Given the description of an element on the screen output the (x, y) to click on. 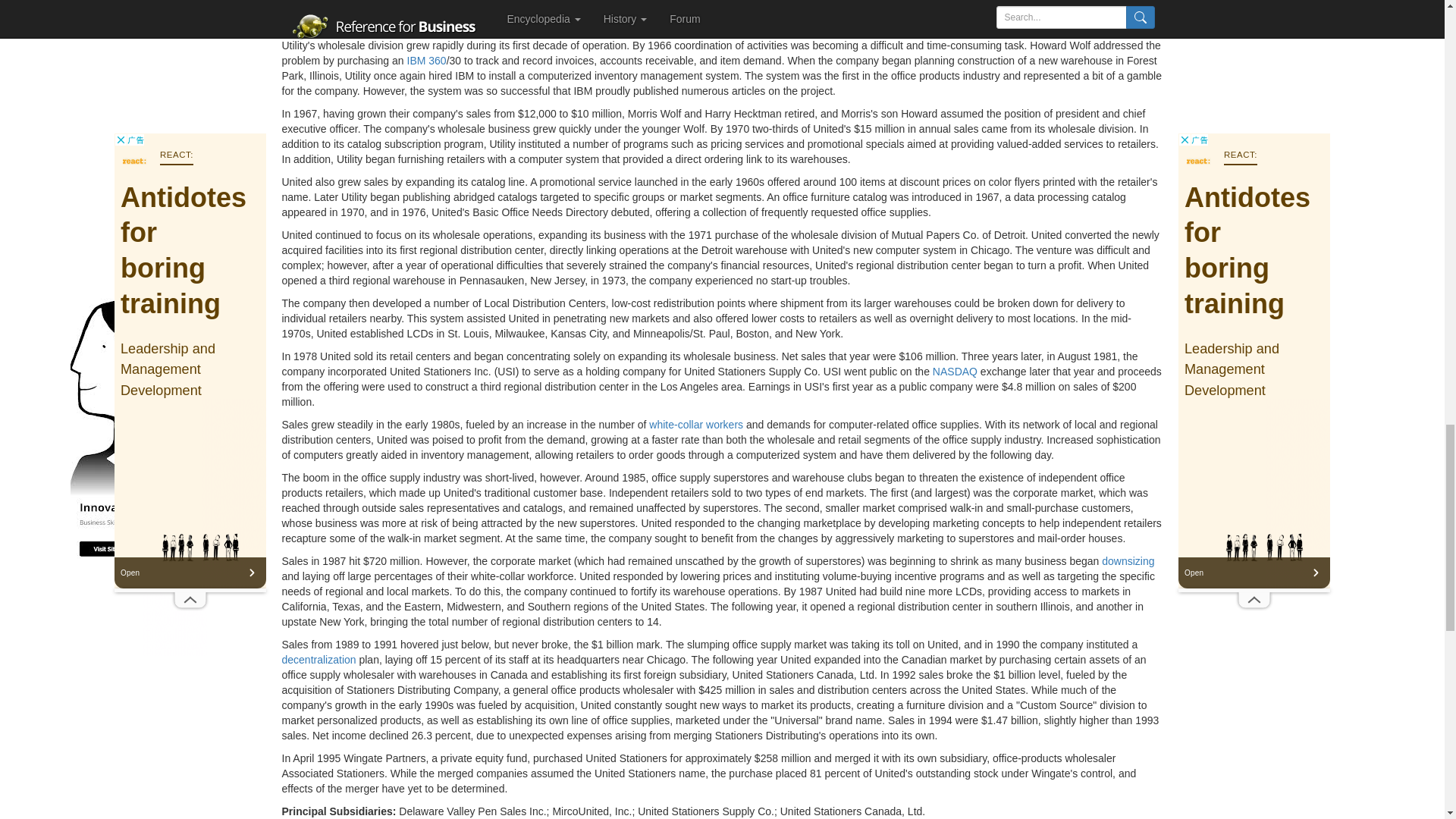
NASDAQ (954, 371)
View 'white-collar workers' definition from Wikipedia (695, 424)
decentralization (319, 659)
IBM 360 (425, 60)
View 'nasdaq' definition from Wikipedia (954, 371)
View 'ibm 360' definition from Wikipedia (425, 60)
white-collar workers (695, 424)
View 'decentralization' definition from Wikipedia (319, 659)
View 'downsizing' definition from Wikipedia (1128, 561)
downsizing (1128, 561)
